Given the description of an element on the screen output the (x, y) to click on. 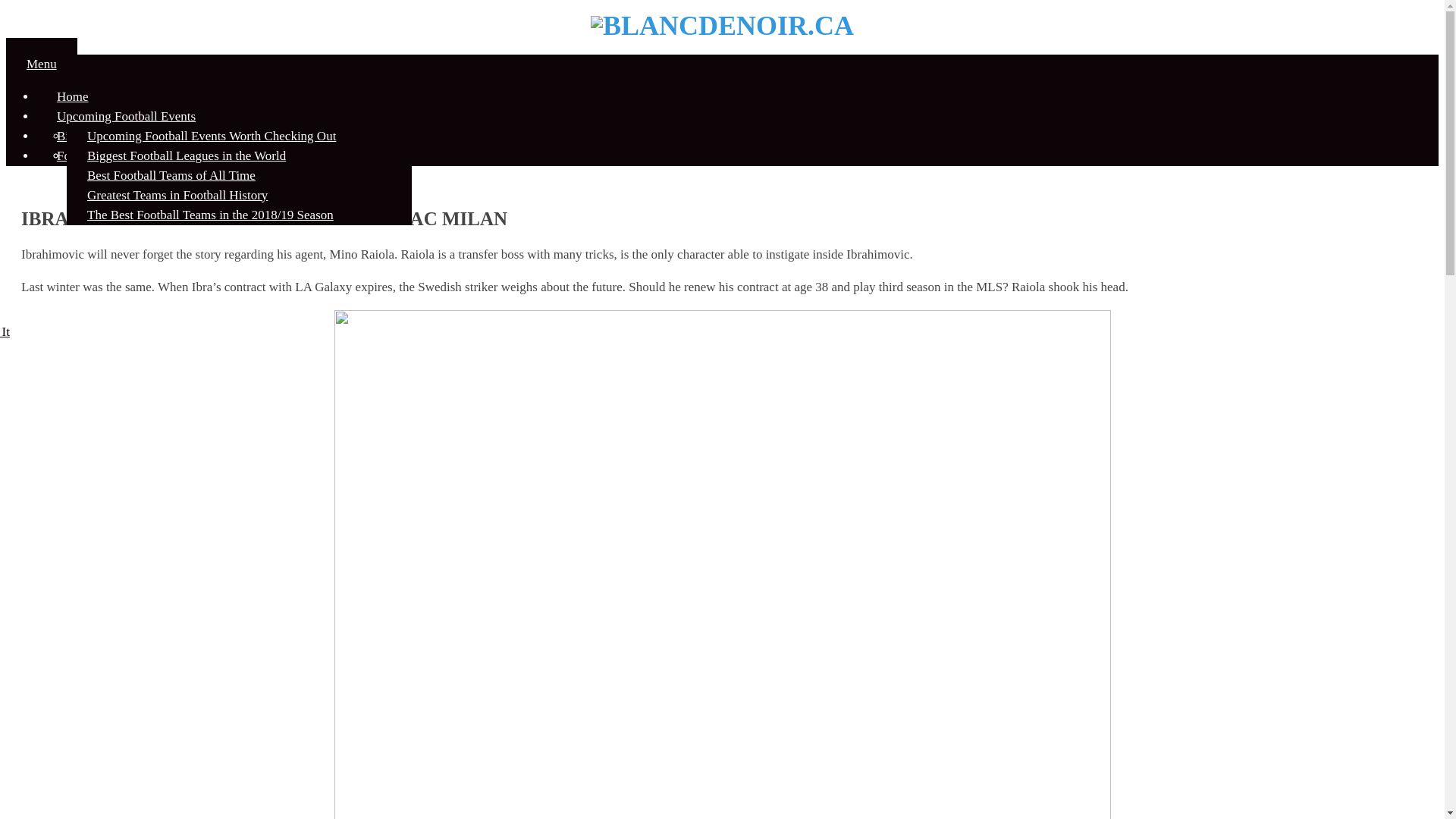
Four Upcoming Big Football Events Element type: text (180, 154)
Biggest Football Leagues Element type: text (122, 135)
Home Element type: text (72, 95)
The Best Football Teams in the 2018/19 Season Element type: text (210, 214)
Biggest Football Leagues in the World Element type: text (186, 154)
Top Football Leagues in the World Element type: text (176, 174)
Football Teams Element type: text (96, 154)
Greatest Teams in Football History Element type: text (177, 194)
Upcoming Football Events Element type: text (126, 115)
Upcoming Football Events Worth Checking Out Element type: text (211, 135)
Best Football Teams of All Time Element type: text (171, 174)
Menu Element type: text (41, 63)
